Given the description of an element on the screen output the (x, y) to click on. 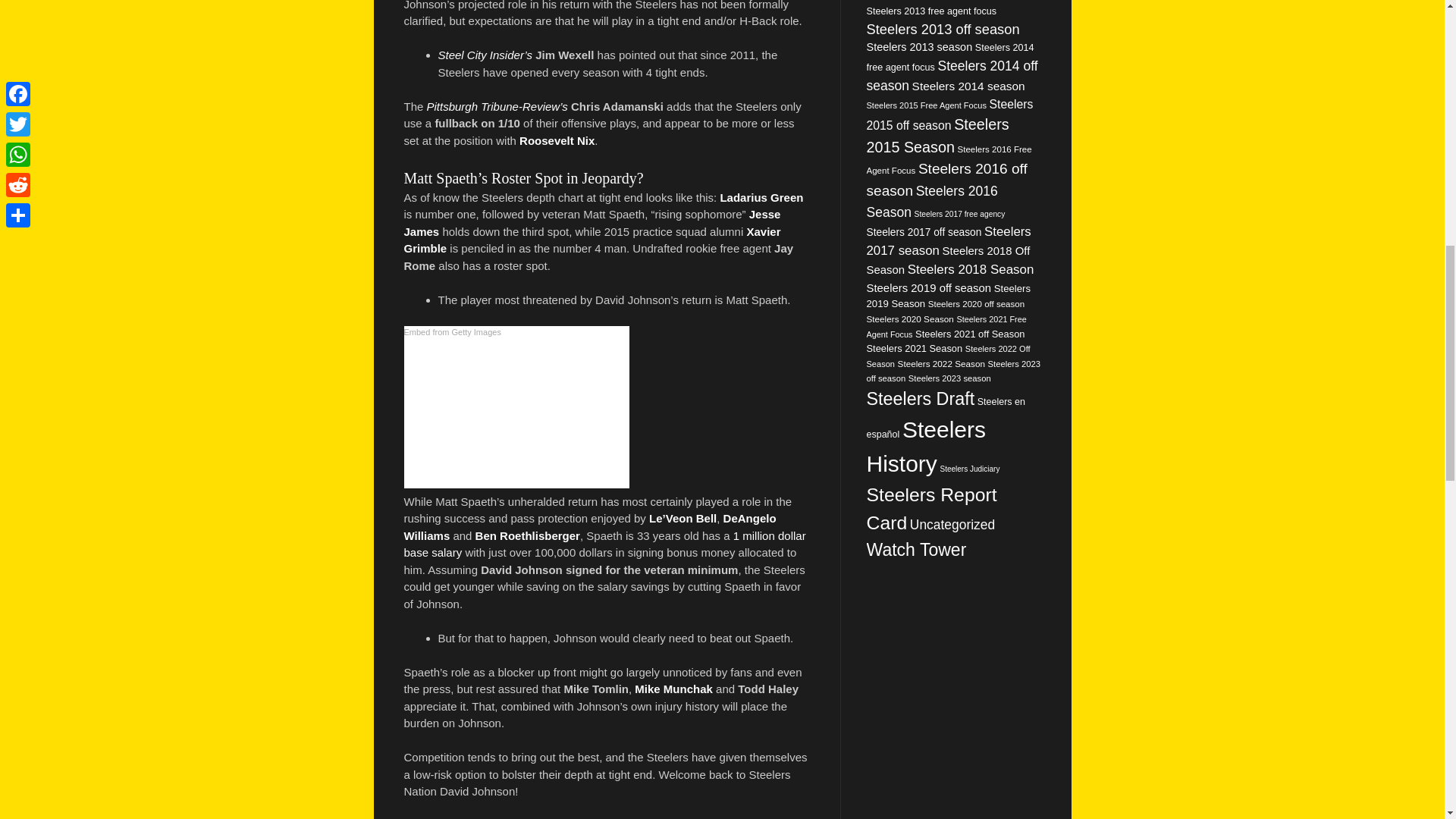
Ladarius Green (761, 196)
Ben Roethlisberger (527, 535)
Xavier Grimble (591, 240)
1 million dollar base salary (604, 544)
Mike Munchak (673, 688)
Embed from Getty Images (451, 332)
Roosevelt Nix (556, 140)
Jesse James (591, 223)
DeAngelo Williams (589, 526)
